Given the description of an element on the screen output the (x, y) to click on. 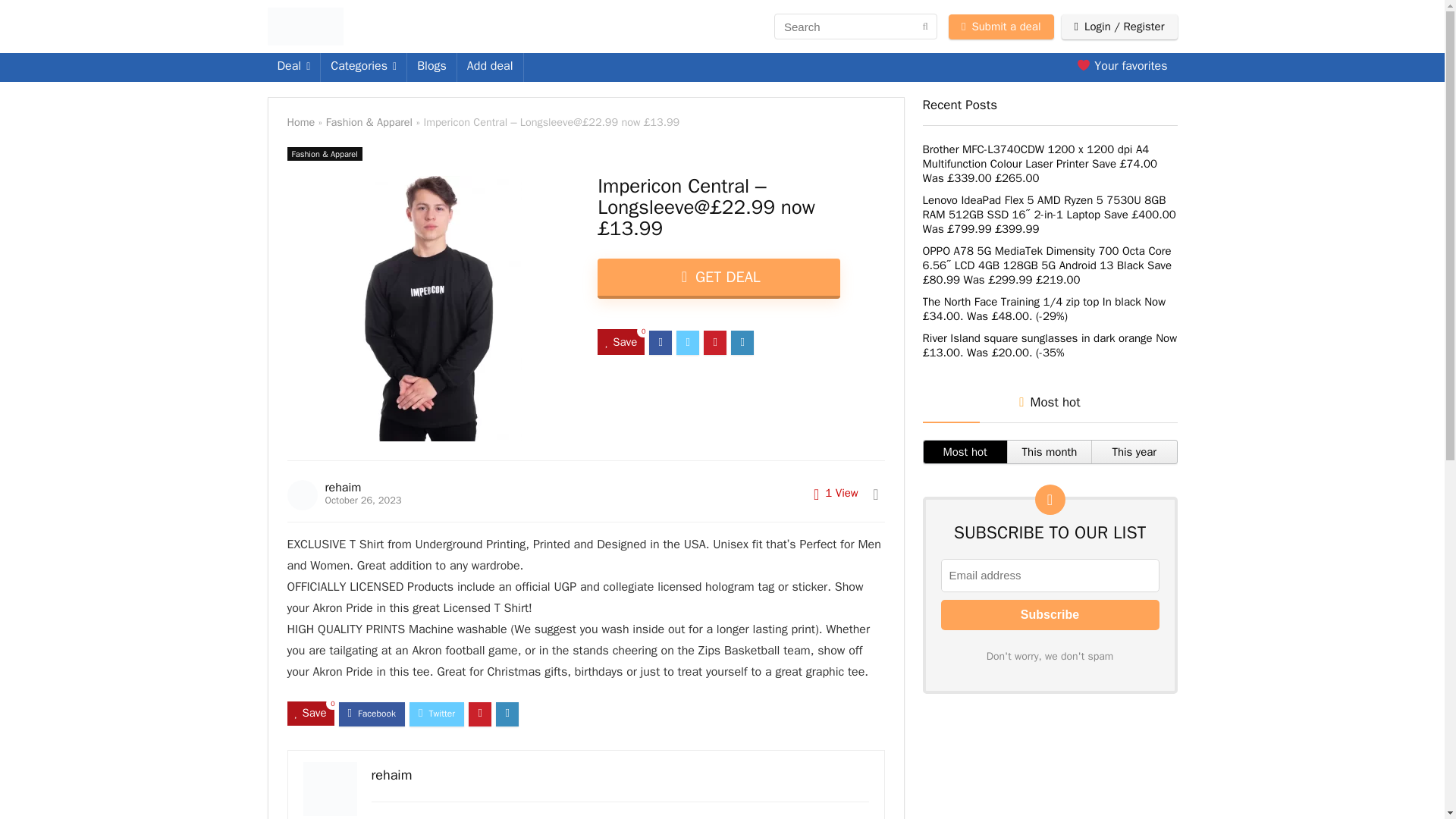
Blogs (432, 67)
rehaim (342, 487)
Add deal (489, 67)
Home (300, 121)
Your favorites (1121, 67)
Submit a deal (1001, 25)
Deal (293, 67)
Categories (363, 67)
GET DEAL (718, 278)
Subscribe (1049, 614)
